Given the description of an element on the screen output the (x, y) to click on. 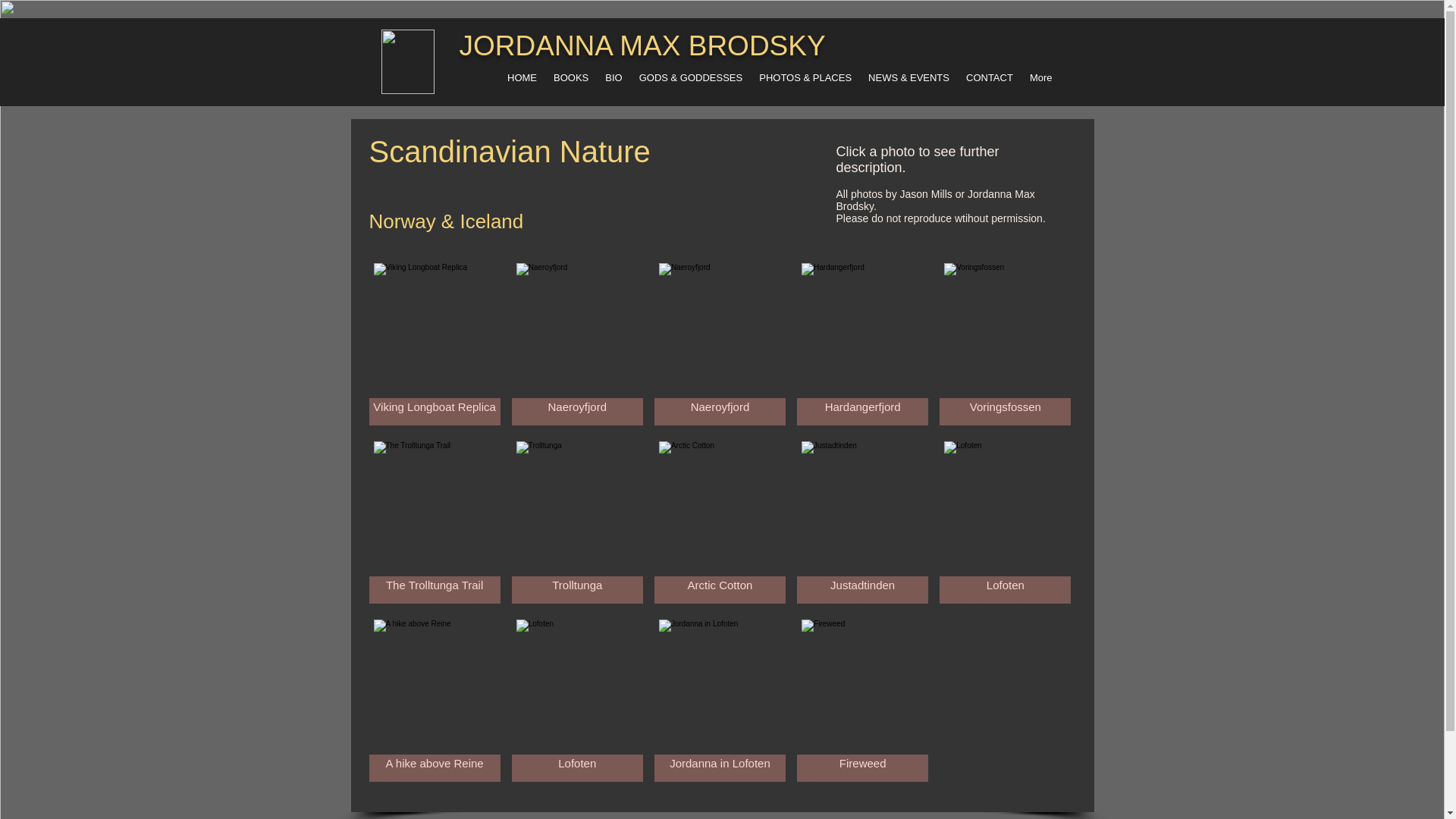
BIO (613, 82)
HOME (521, 82)
CONTACT (990, 82)
BOOKS (570, 82)
